Given the description of an element on the screen output the (x, y) to click on. 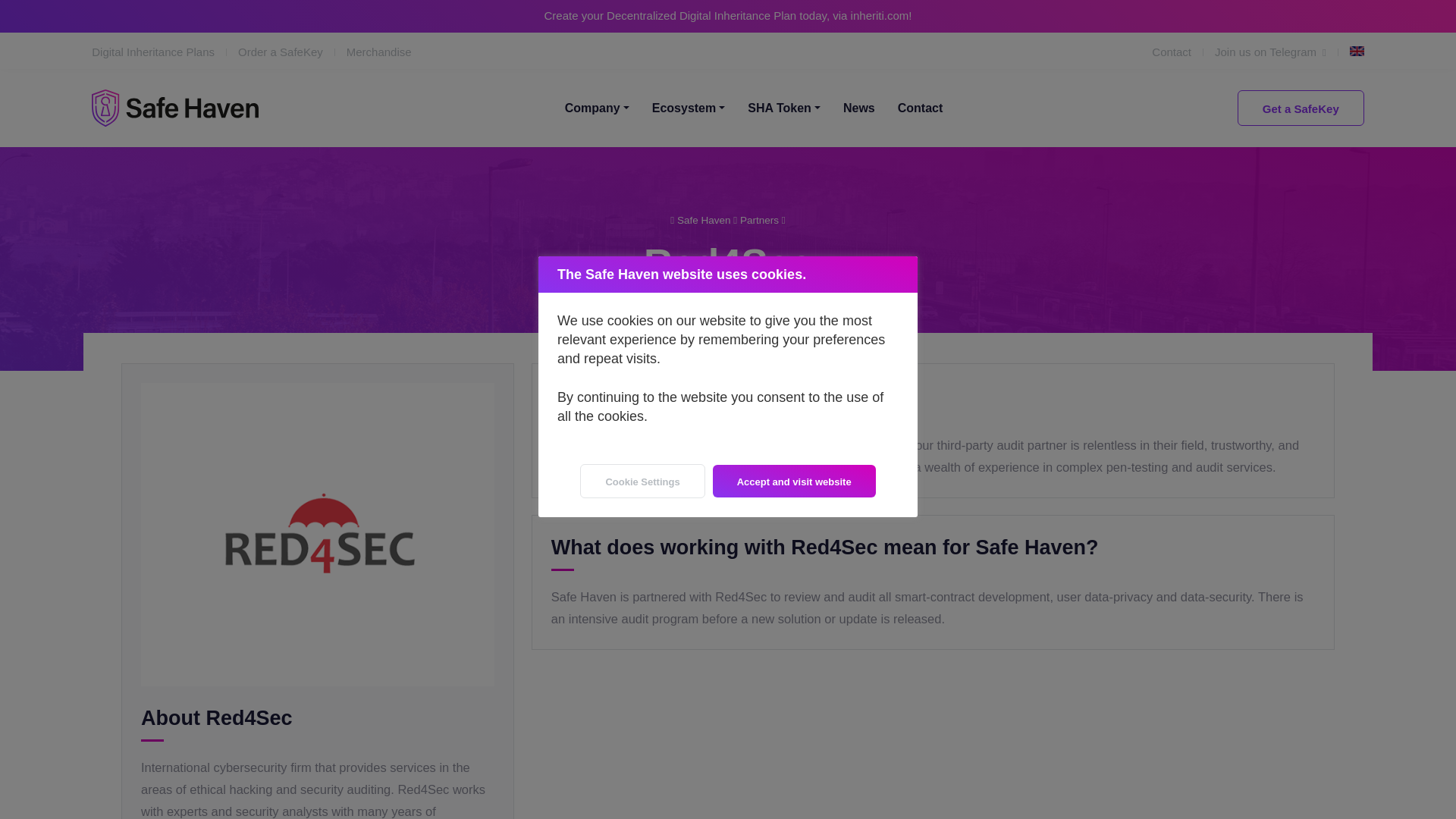
Join us on Telegram (1281, 51)
Safe Haven (175, 108)
Safe Haven (175, 108)
Ecosystem (688, 107)
Merchandise (379, 50)
Contact (920, 107)
Company (596, 107)
Back to our homepage (703, 220)
Get a SafeKey (1300, 108)
Digital Inheritance Plans (164, 50)
Order a SafeKey (292, 50)
Back (758, 220)
SHA Token (783, 107)
Contact (1182, 51)
